Given the description of an element on the screen output the (x, y) to click on. 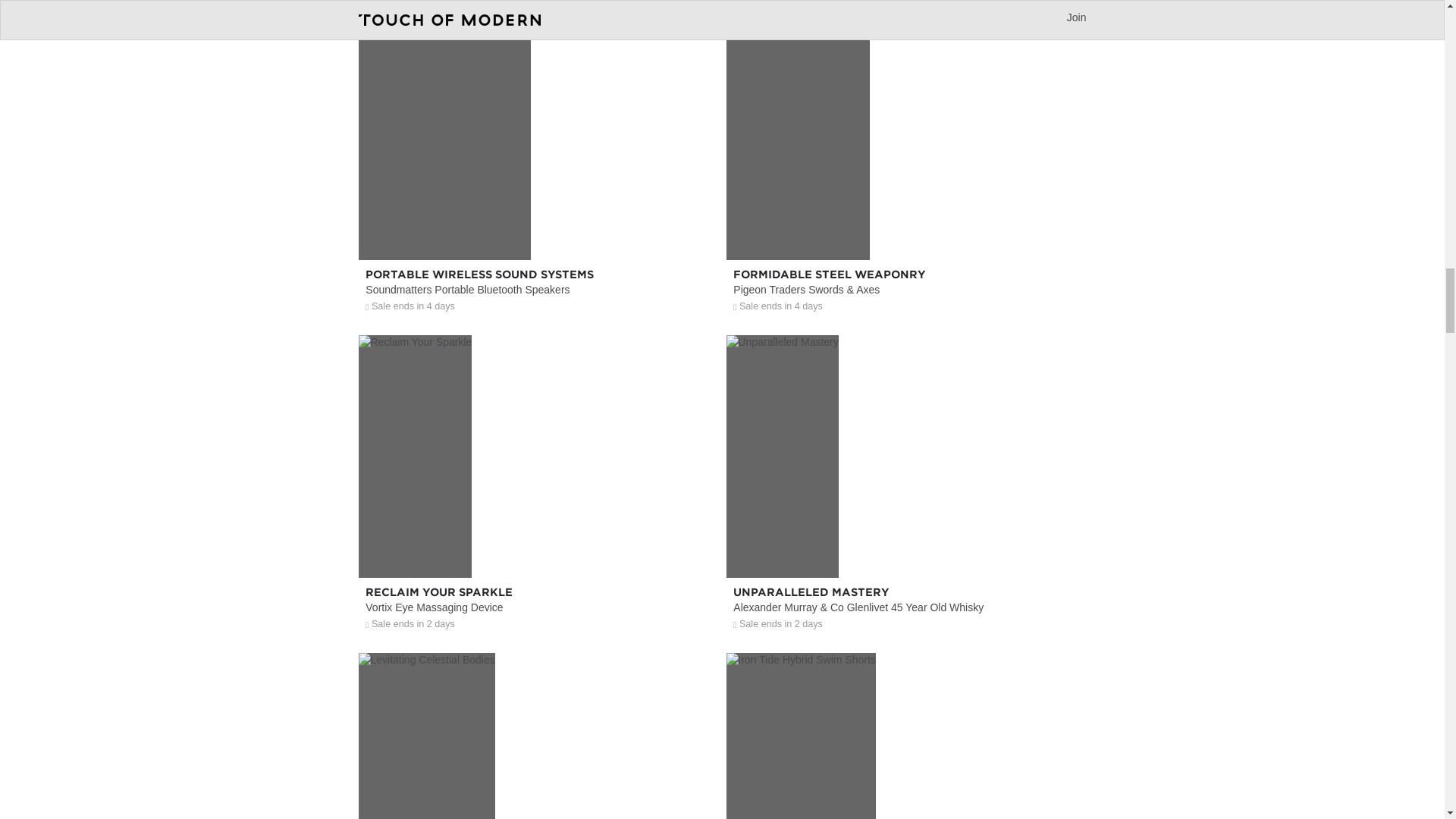
Your New Fall Uniform Has Arrived (537, 2)
Formidable Steel Weaponry (906, 227)
Improve Your Health With Cupping (906, 2)
Portable Wireless Sound Systems (537, 227)
